Given the description of an element on the screen output the (x, y) to click on. 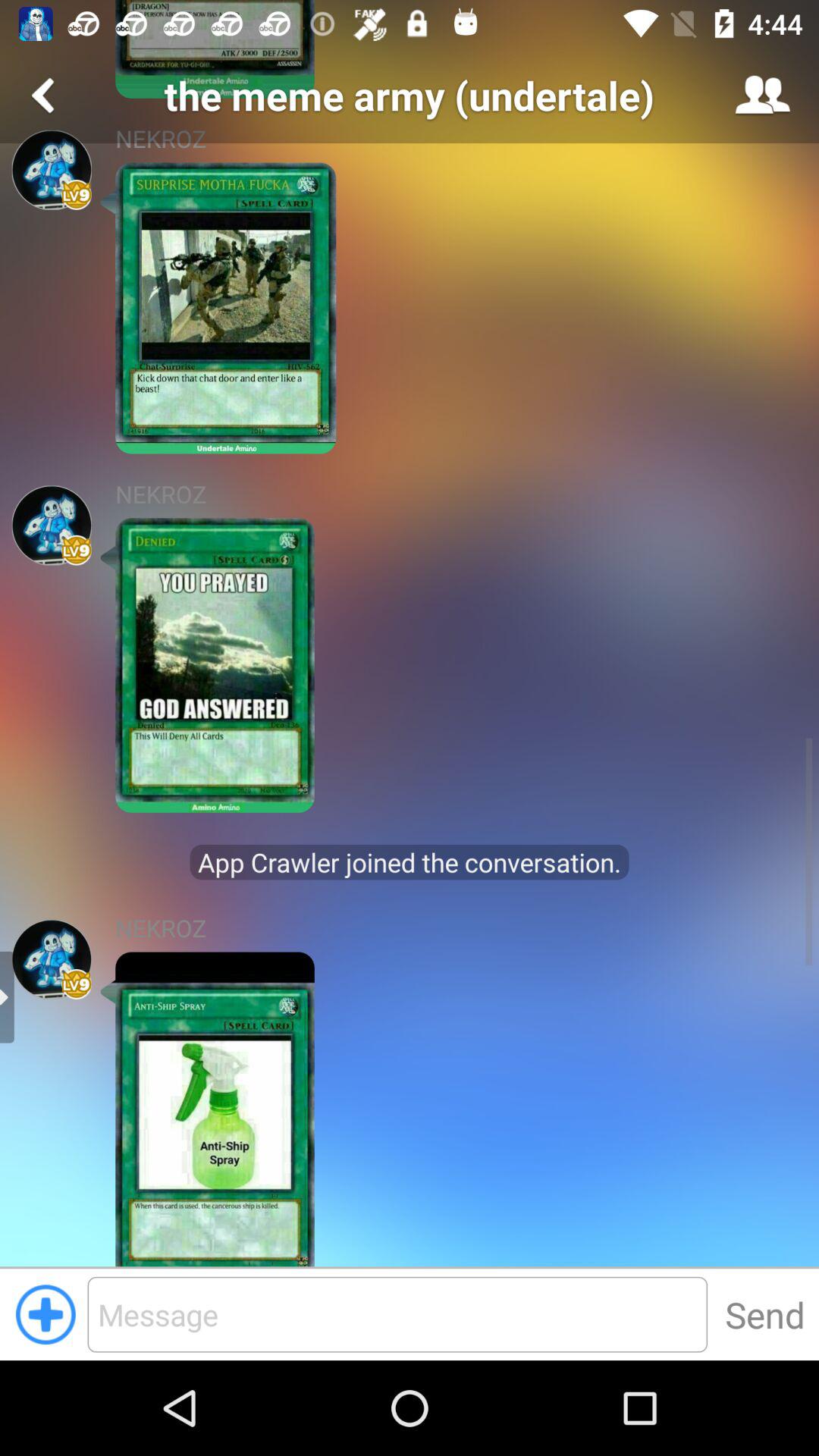
game page (51, 169)
